Given the description of an element on the screen output the (x, y) to click on. 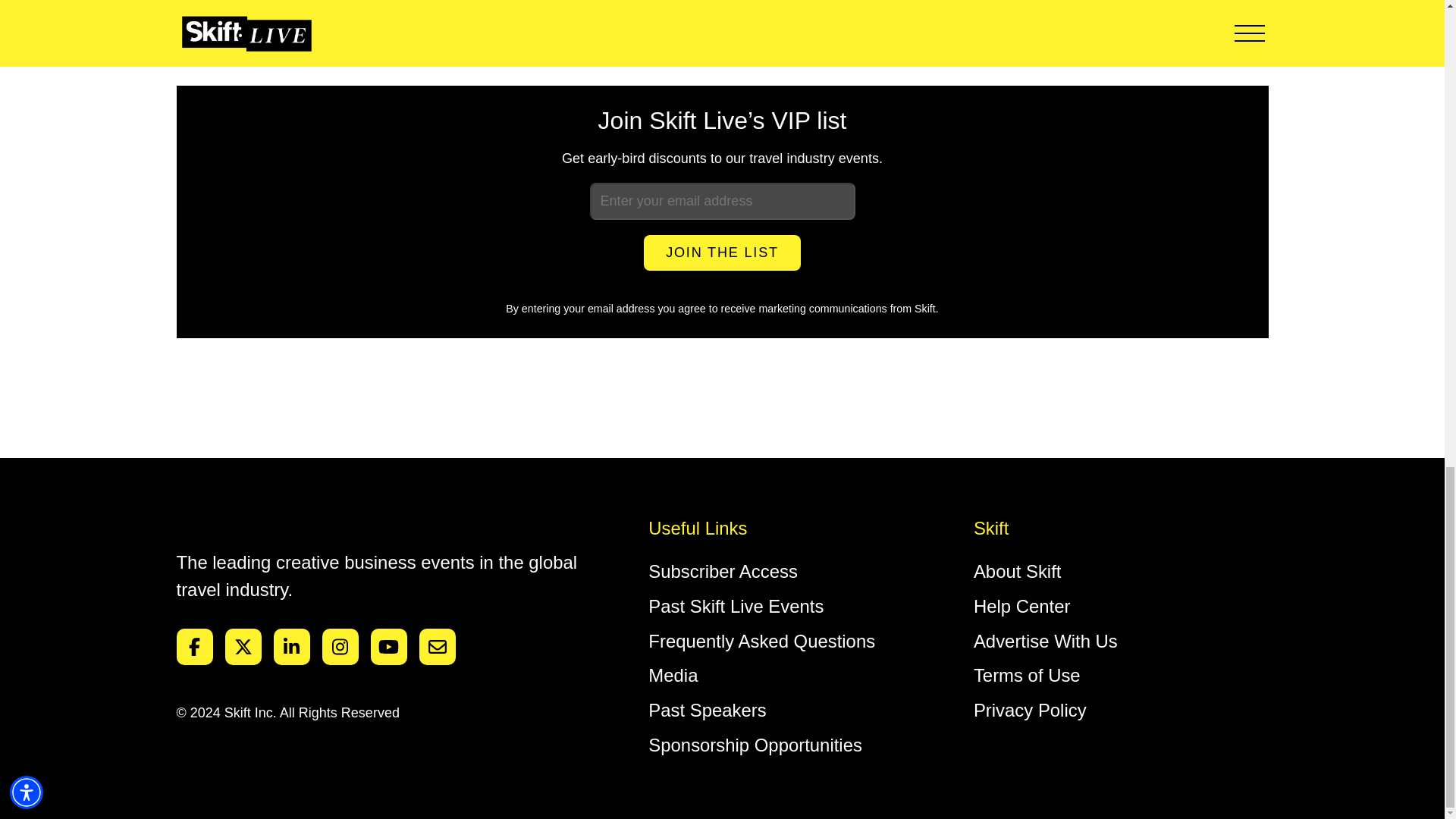
Privacy Policy (1030, 710)
About Skift (1017, 571)
Terms of Use (1027, 675)
Join the list (721, 253)
Past Skift Live Events (735, 606)
Sponsorship Opportunities (754, 744)
Join the list (721, 253)
Media (672, 675)
Past Speakers (706, 710)
Subscriber Access (722, 571)
